Given the description of an element on the screen output the (x, y) to click on. 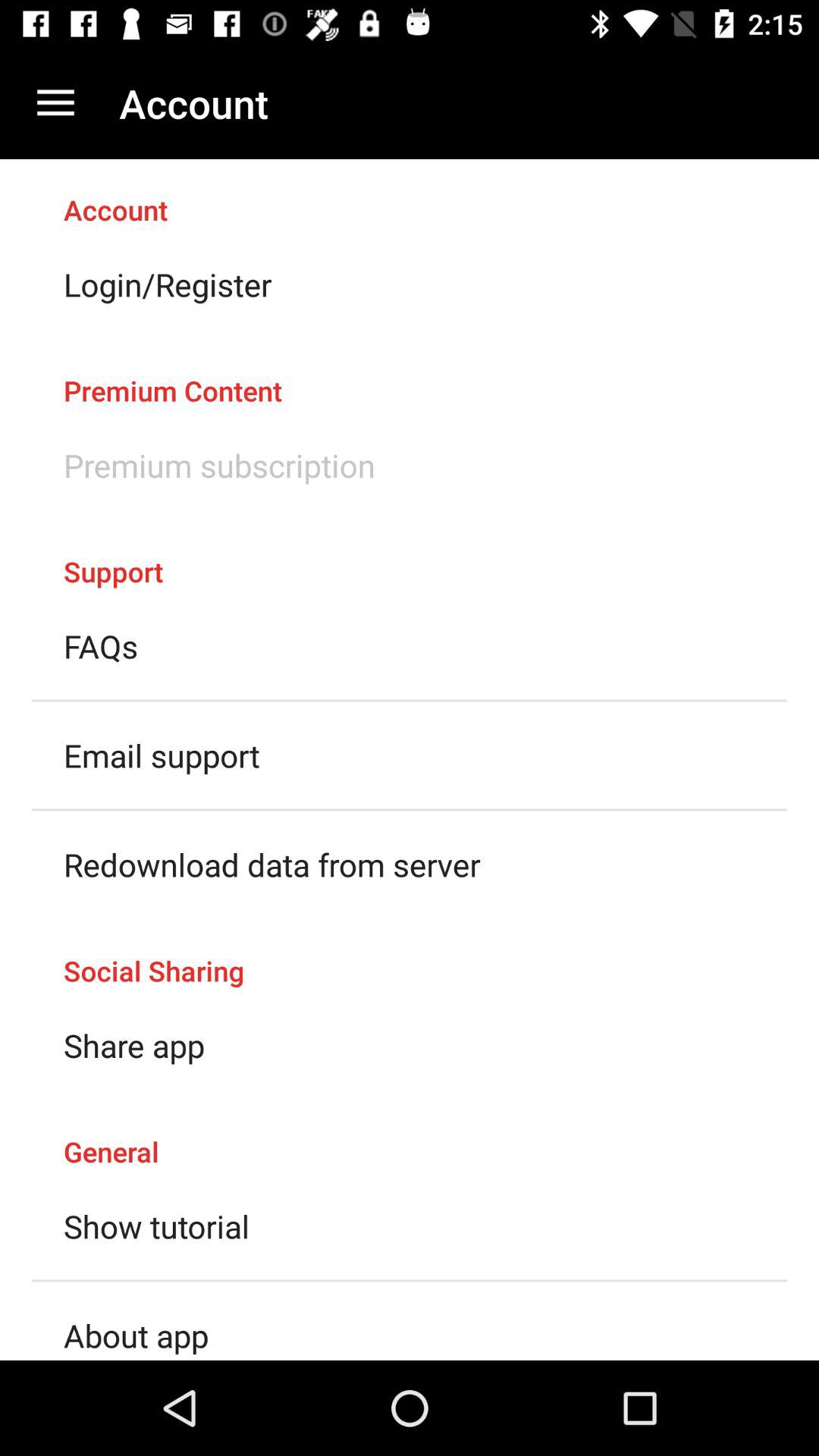
turn off the icon next to account (55, 103)
